Given the description of an element on the screen output the (x, y) to click on. 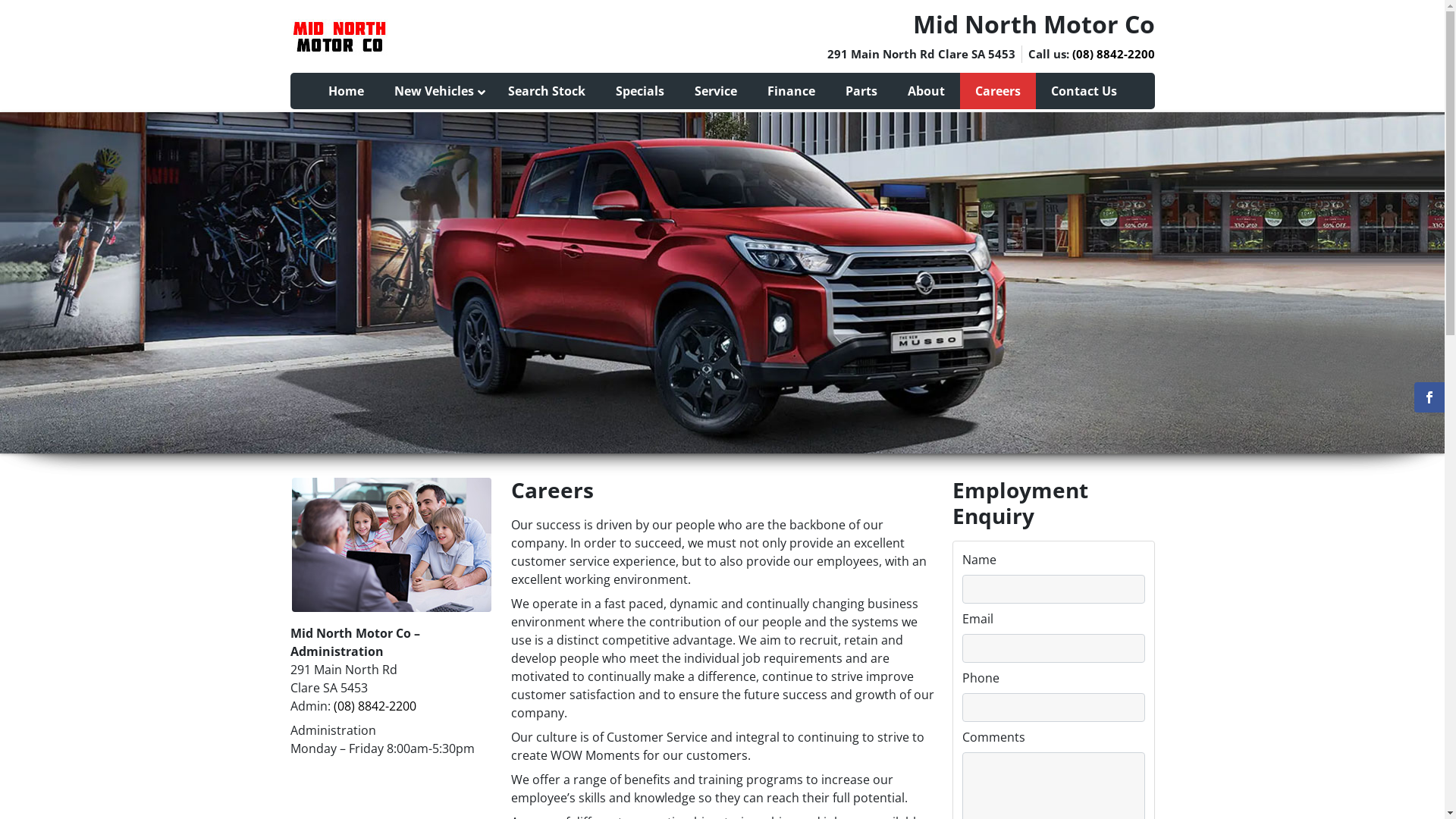
Home Element type: text (345, 90)
Specials Element type: text (639, 90)
Careers Element type: text (997, 90)
Parts Element type: text (860, 90)
(08) 8842-2200 Element type: text (1113, 53)
Service Element type: text (715, 90)
About Element type: text (925, 90)
Search Stock Element type: text (546, 90)
New Vehicles Element type: text (435, 90)
Finance Element type: text (791, 90)
Contact Us Element type: text (1083, 90)
(08) 8842-2200 Element type: text (374, 705)
